Given the description of an element on the screen output the (x, y) to click on. 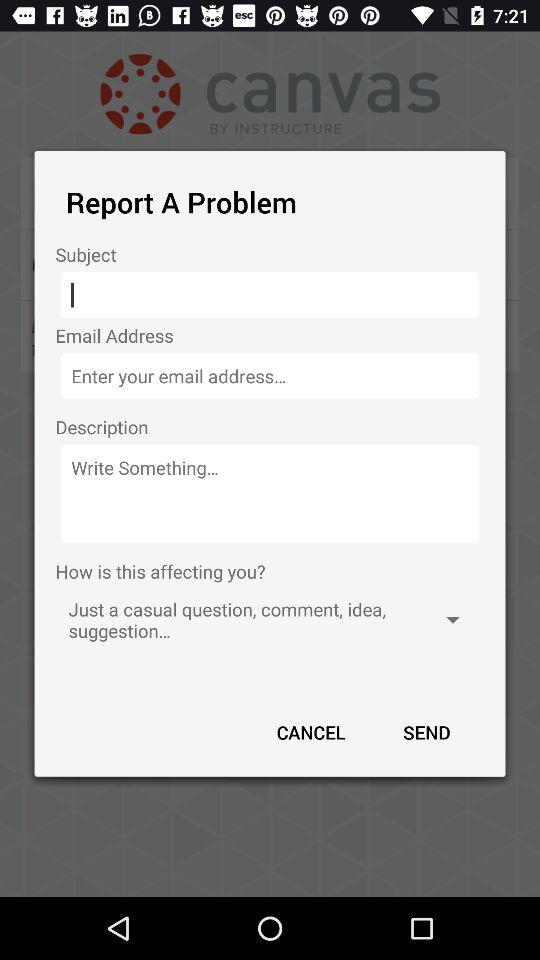
write option (269, 493)
